Given the description of an element on the screen output the (x, y) to click on. 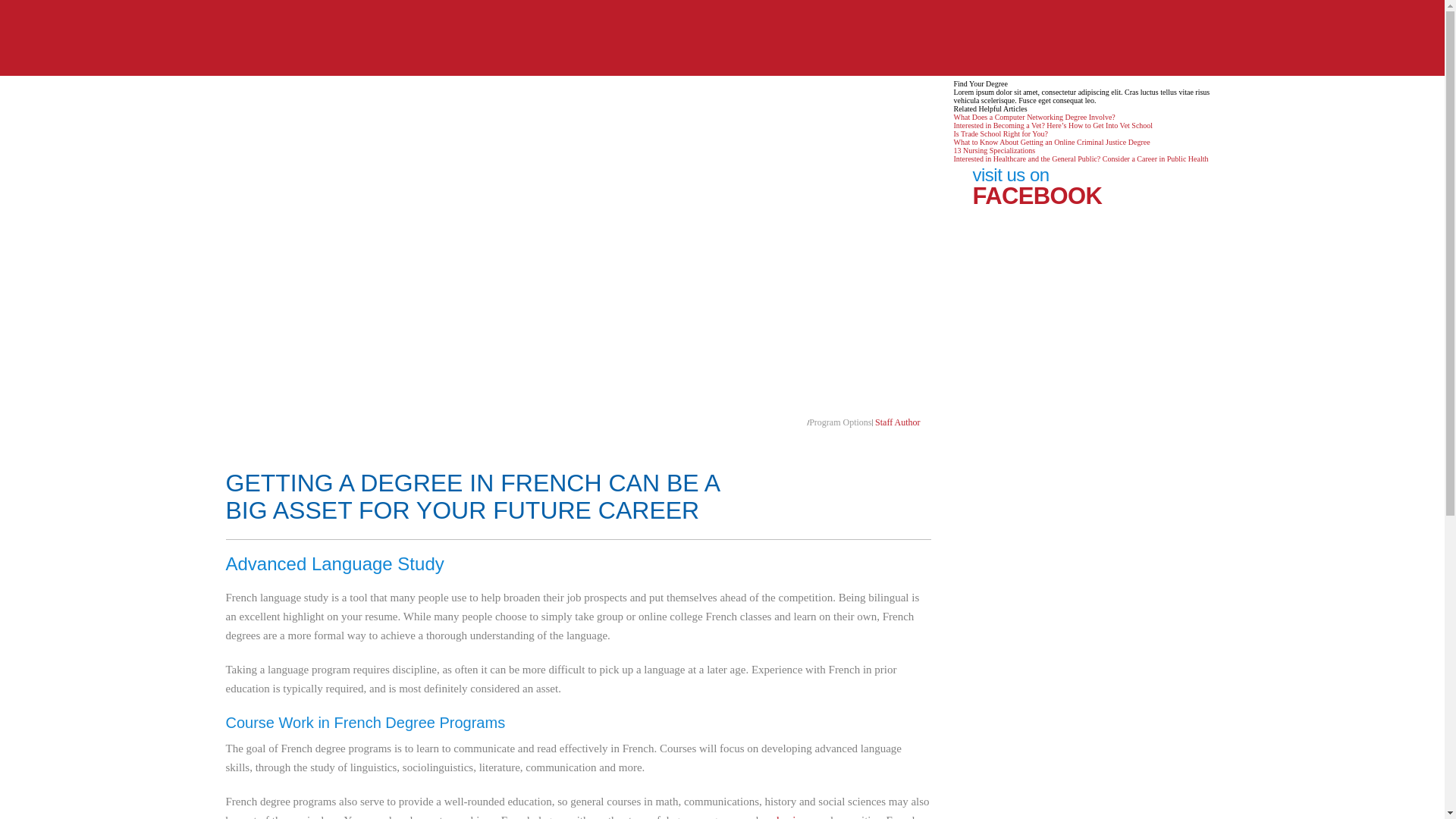
Program Options (839, 421)
What Does a Computer Networking Degree Involve? (1034, 117)
Education Advice Network (722, 39)
Staff Author (897, 421)
What to Know About Getting an Online Criminal Justice Degree (1051, 142)
business (795, 816)
Is Trade School Right for You? (1000, 133)
